Given the description of an element on the screen output the (x, y) to click on. 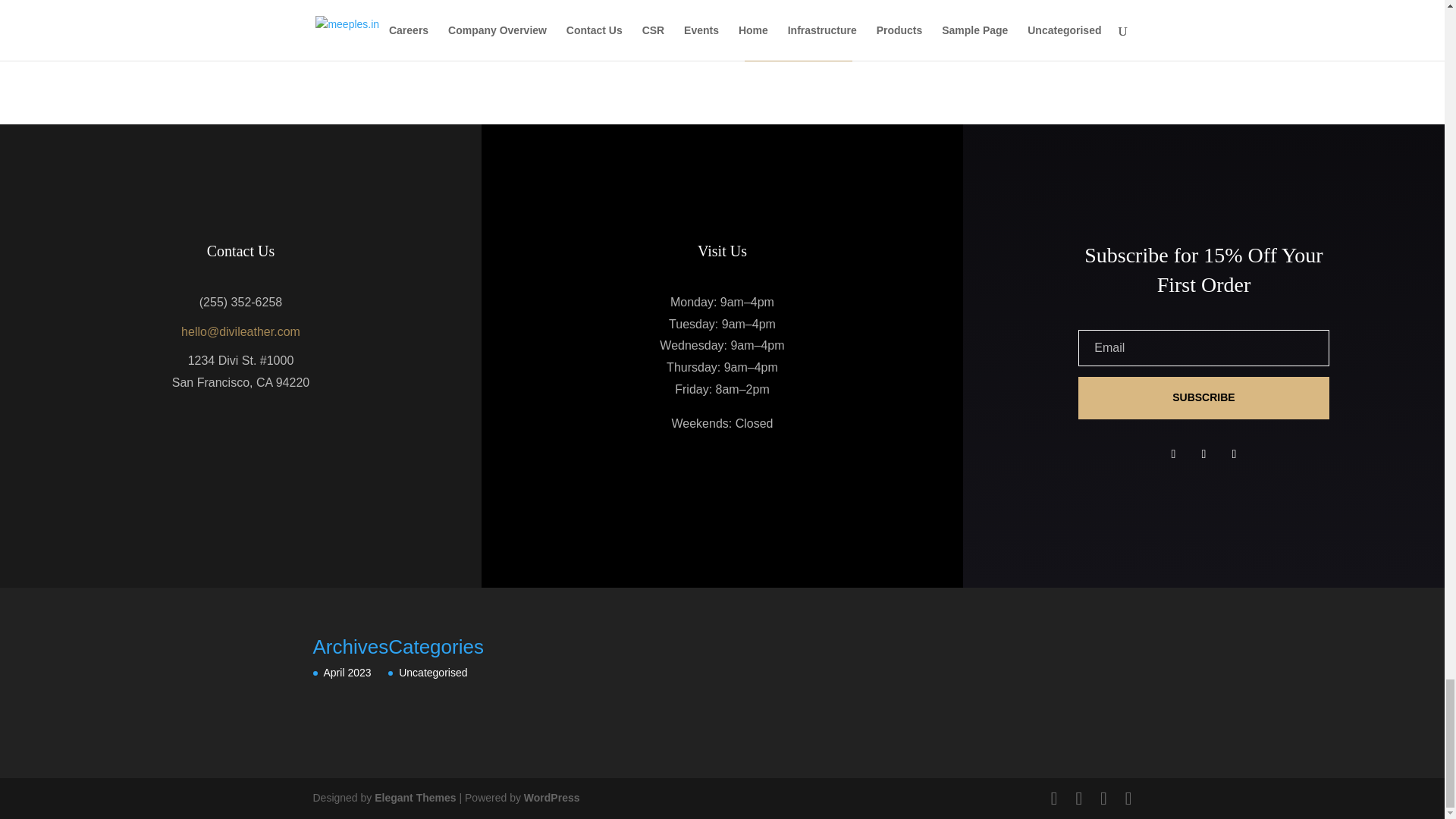
WordPress (551, 797)
Follow on Instagram (1233, 454)
Follow on Twitter (1203, 454)
Follow on Facebook (1172, 454)
Uncategorised (432, 672)
SUBSCRIBE (1202, 397)
LEARN MORE (797, 39)
April 2023 (347, 672)
Elegant Themes (414, 797)
